Given the description of an element on the screen output the (x, y) to click on. 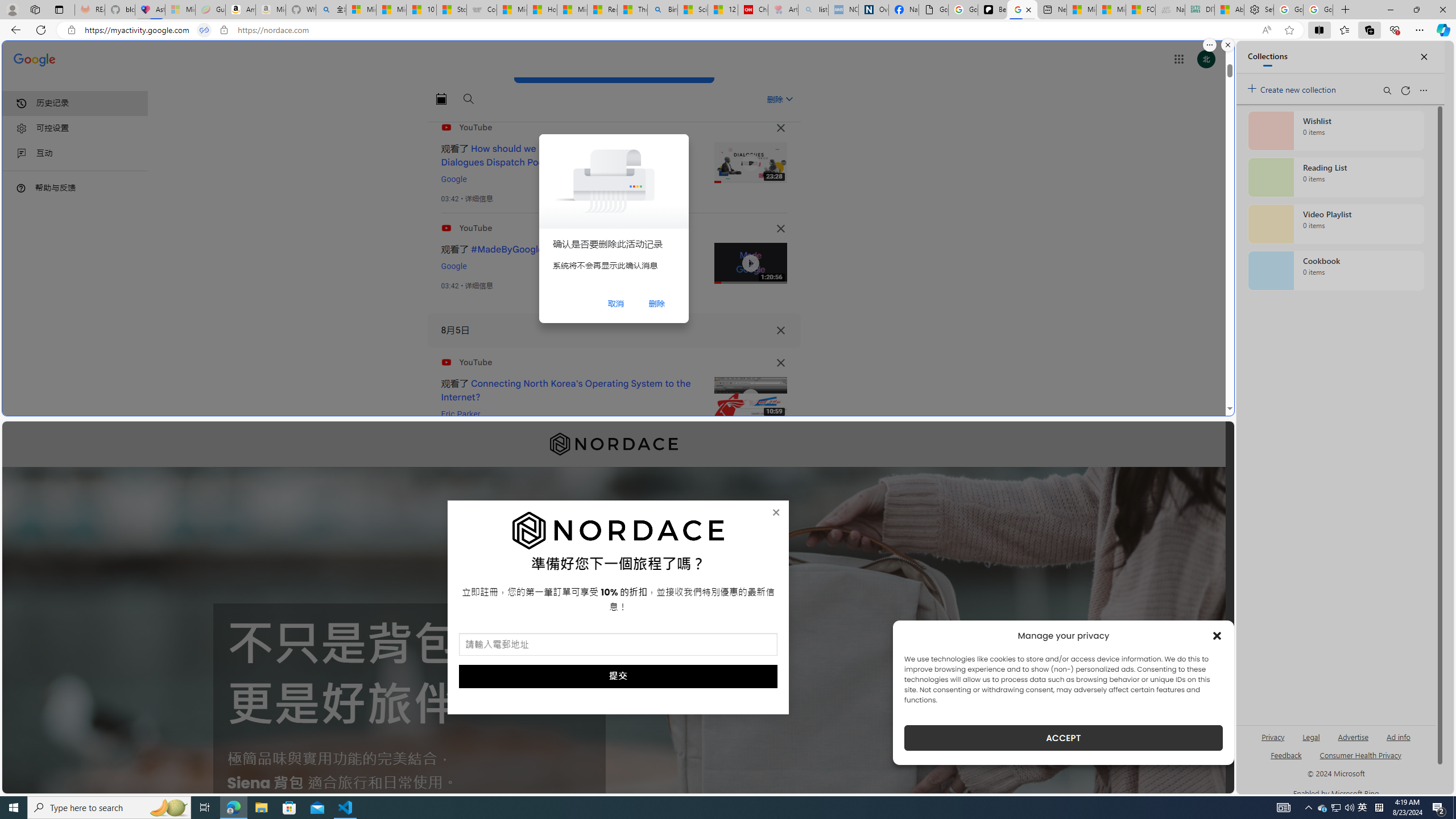
Class: IVR0f NMm5M (750, 397)
More options. (1209, 45)
AutomationID: genId96 (1285, 759)
Google Analytics Opt-out Browser Add-on Download Page (933, 9)
